Given the description of an element on the screen output the (x, y) to click on. 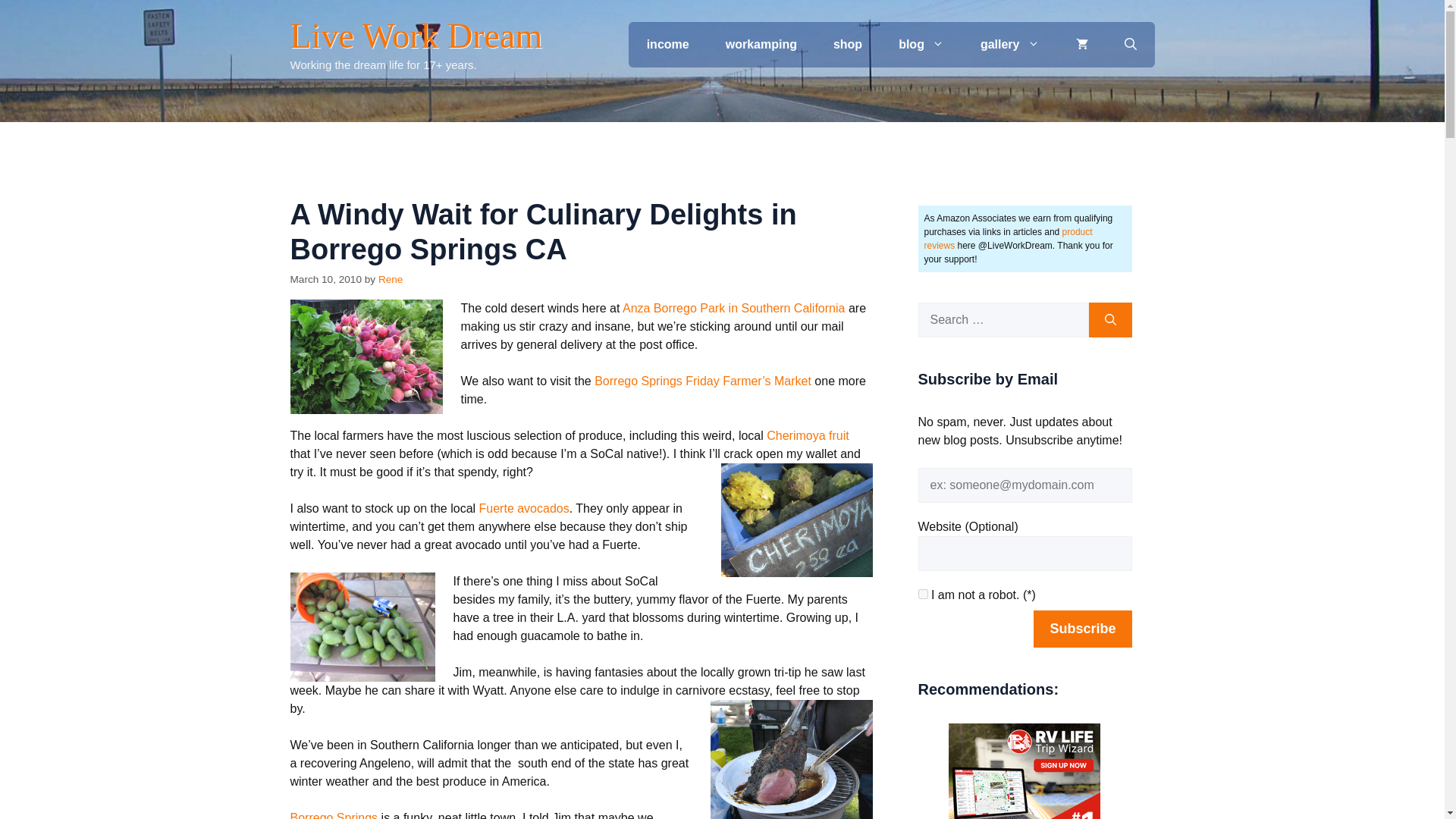
gallery (1010, 44)
Cherimoya fruit (807, 435)
Winter produce Anza Borrego Farmer's Market (365, 356)
income (667, 44)
Borrego Springs (333, 815)
workamping (761, 44)
Anza Borrego Park in Southern California (734, 308)
on (922, 593)
Anza Borrego State Park (734, 308)
Cherimoya Fruit Facts (807, 435)
